Given the description of an element on the screen output the (x, y) to click on. 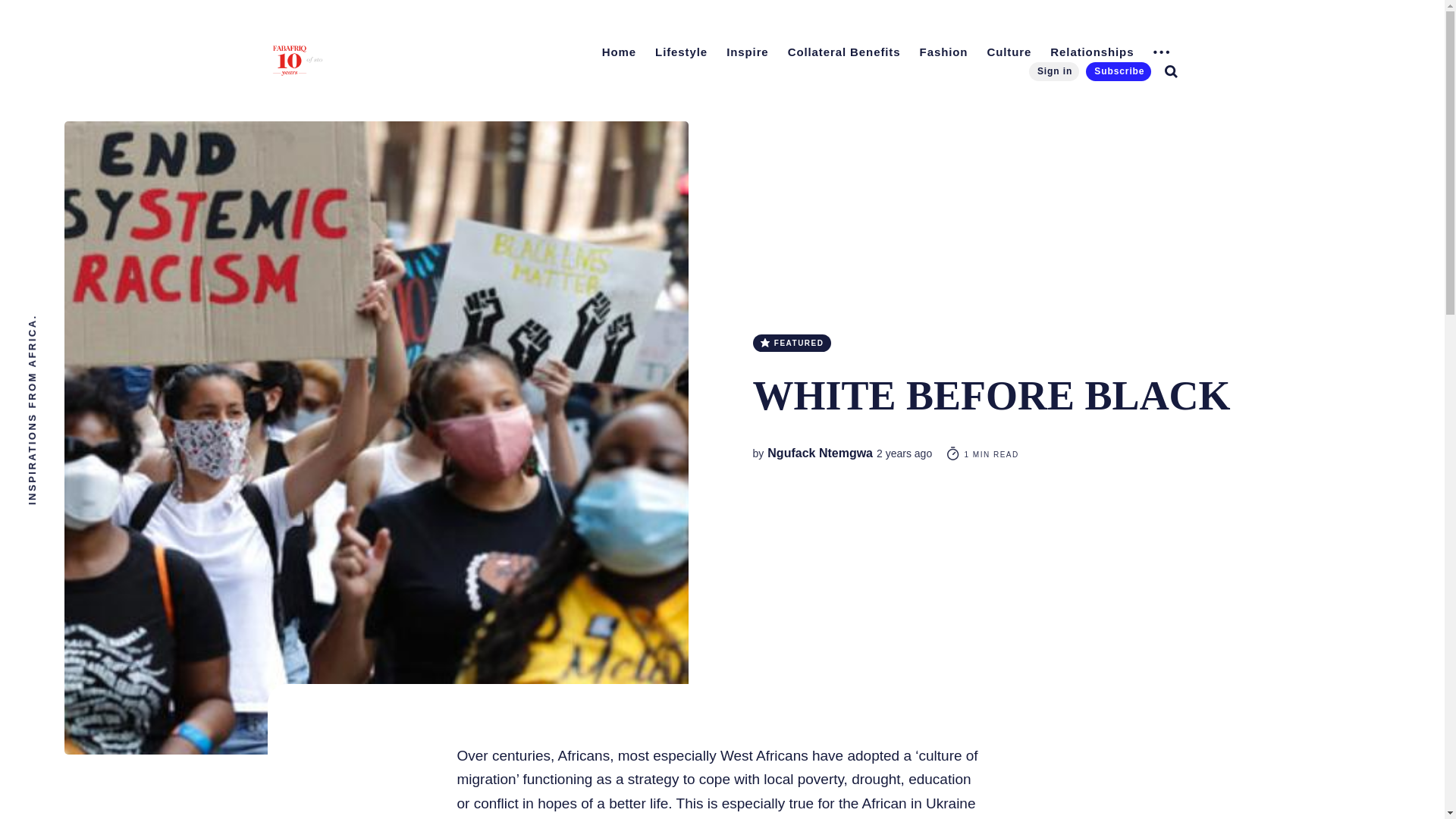
Lifestyle (680, 52)
Relationships (1091, 52)
Sign in (1053, 71)
Fashion (943, 52)
Home (618, 52)
Culture (1008, 52)
Inspire (747, 52)
Collateral Benefits (844, 52)
Subscribe (1118, 71)
Ngufack Ntemgwa (819, 452)
